Given the description of an element on the screen output the (x, y) to click on. 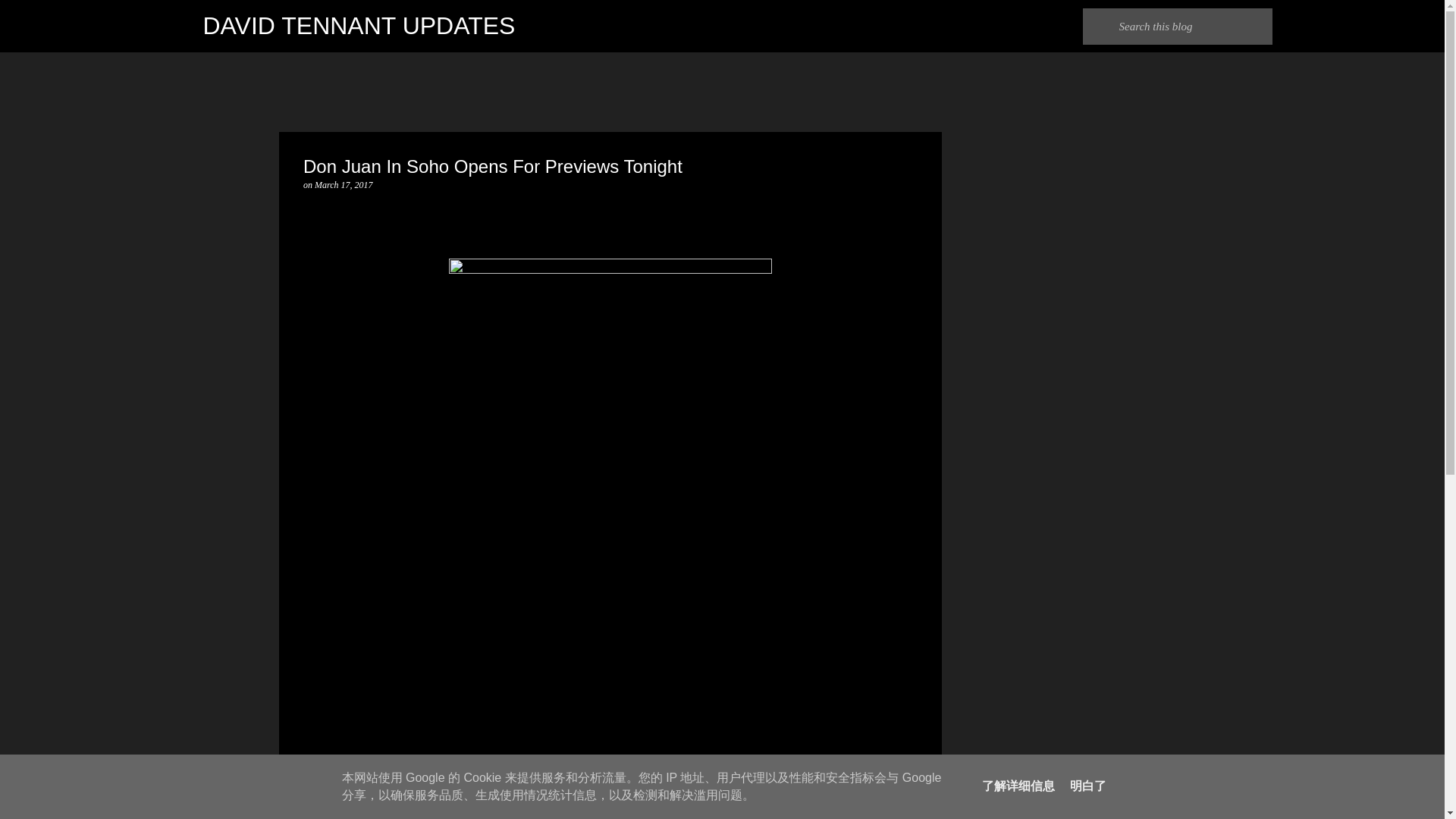
permanent link (343, 184)
March 17, 2017 (343, 184)
DAVID TENNANT UPDATES (359, 25)
